Given the description of an element on the screen output the (x, y) to click on. 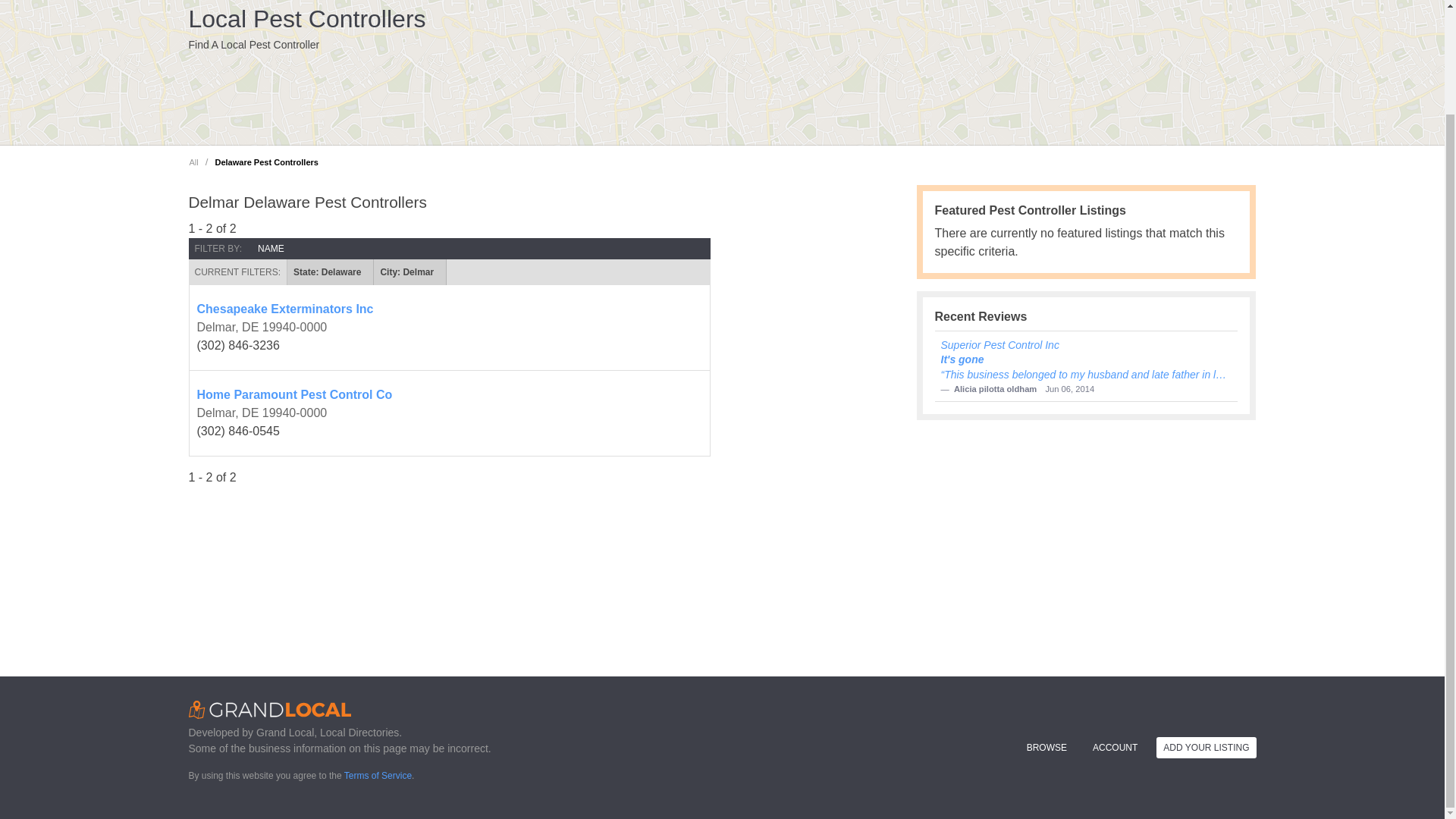
Terms of Service (377, 775)
Local Pest Controllers (306, 18)
ADD YOUR LISTING (1205, 747)
Advertisement (988, 66)
Chesapeake Exterminators Inc (448, 309)
All (193, 161)
Home Paramount Pest Control Co (448, 394)
Delaware Pest Controllers (266, 161)
ACCOUNT (1115, 747)
Chesapeake Exterminators Inc (448, 309)
BROWSE (1047, 747)
Home Paramount Pest Control Co (448, 394)
